Given the description of an element on the screen output the (x, y) to click on. 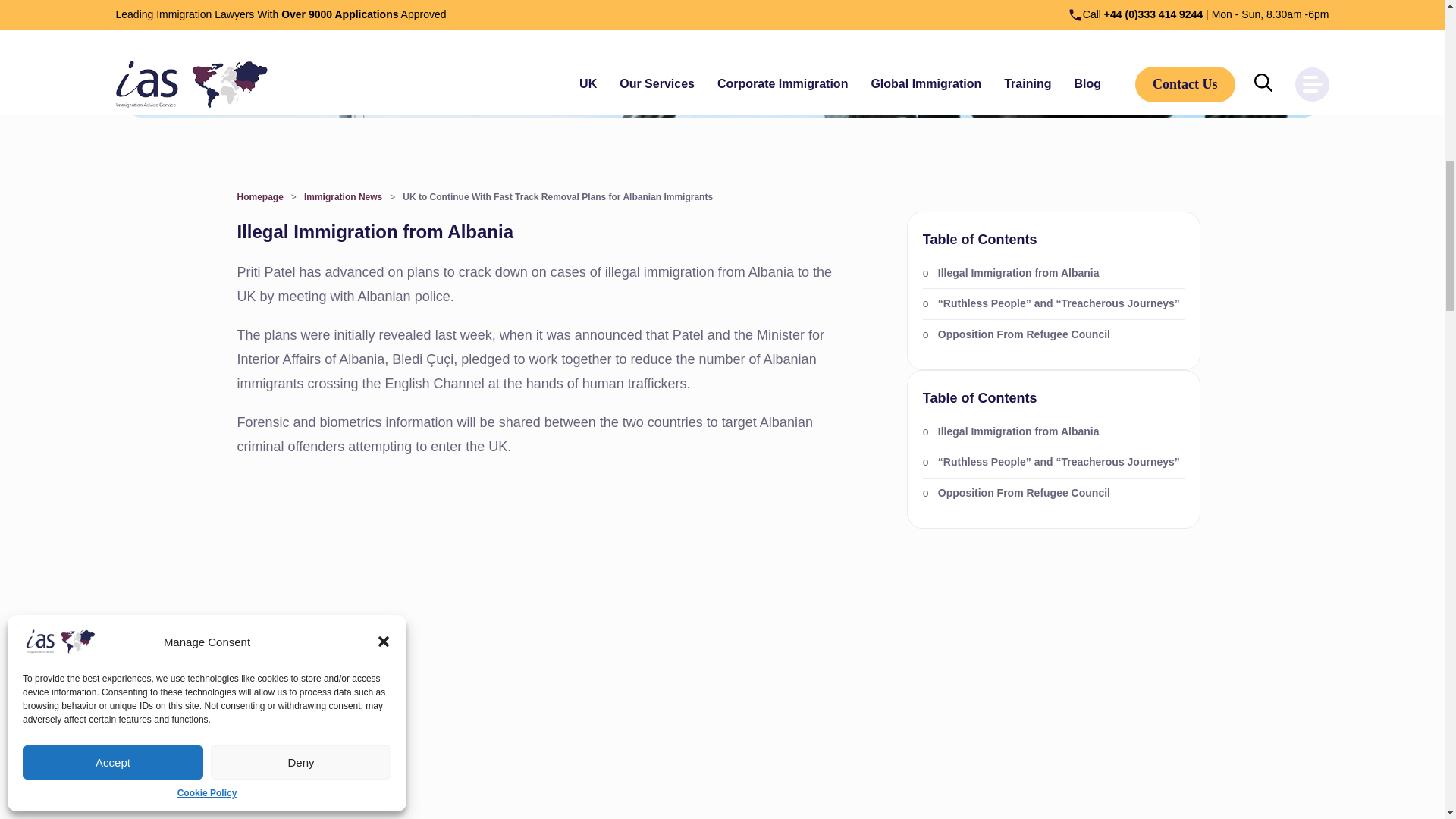
Homepage (258, 196)
